Given the description of an element on the screen output the (x, y) to click on. 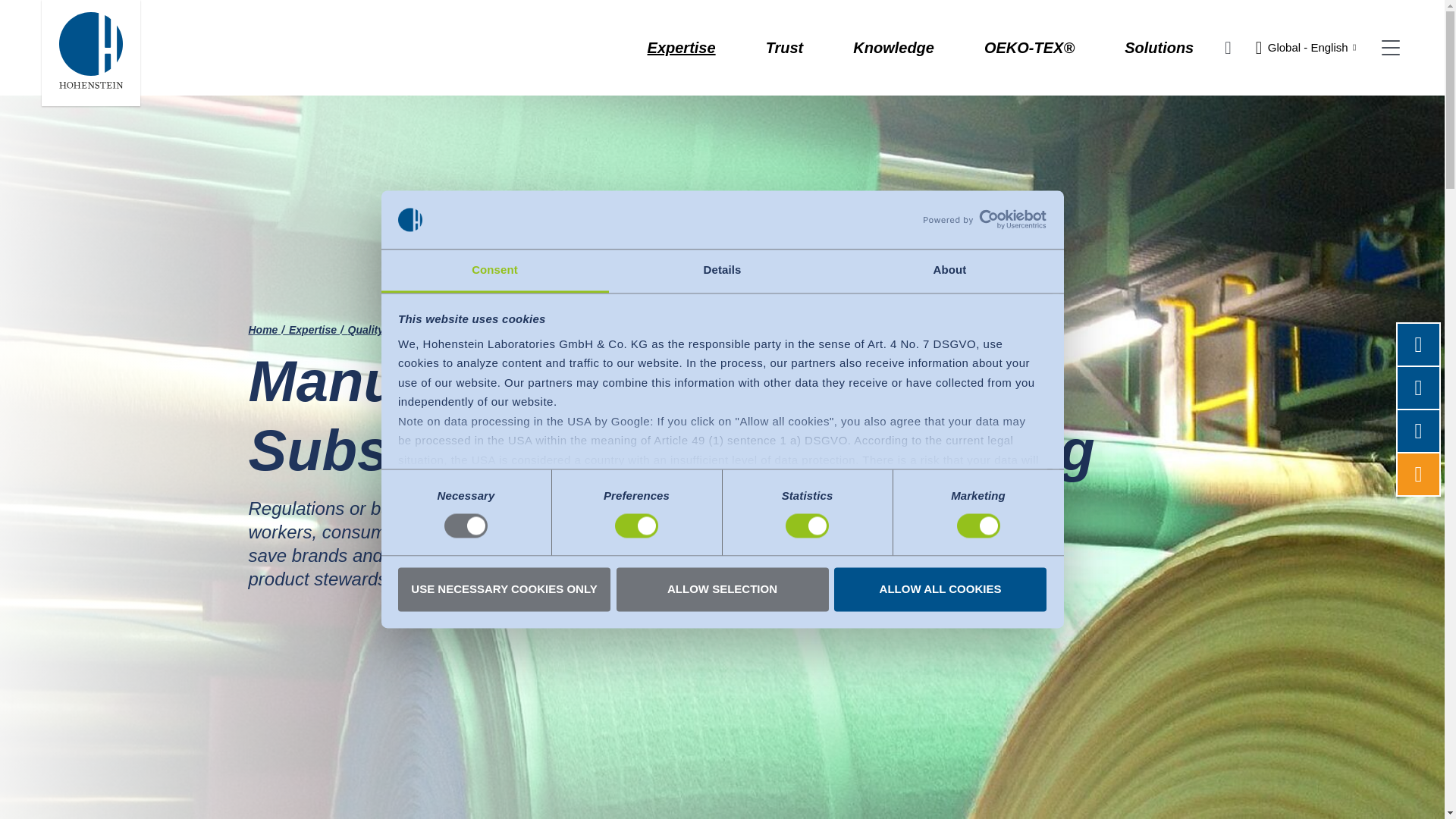
About (948, 270)
USE NECESSARY COOKIES ONLY (503, 588)
ALLOW ALL COOKIES (940, 588)
Details (721, 270)
ALLOW SELECTION (721, 588)
Consent (494, 270)
